Given the description of an element on the screen output the (x, y) to click on. 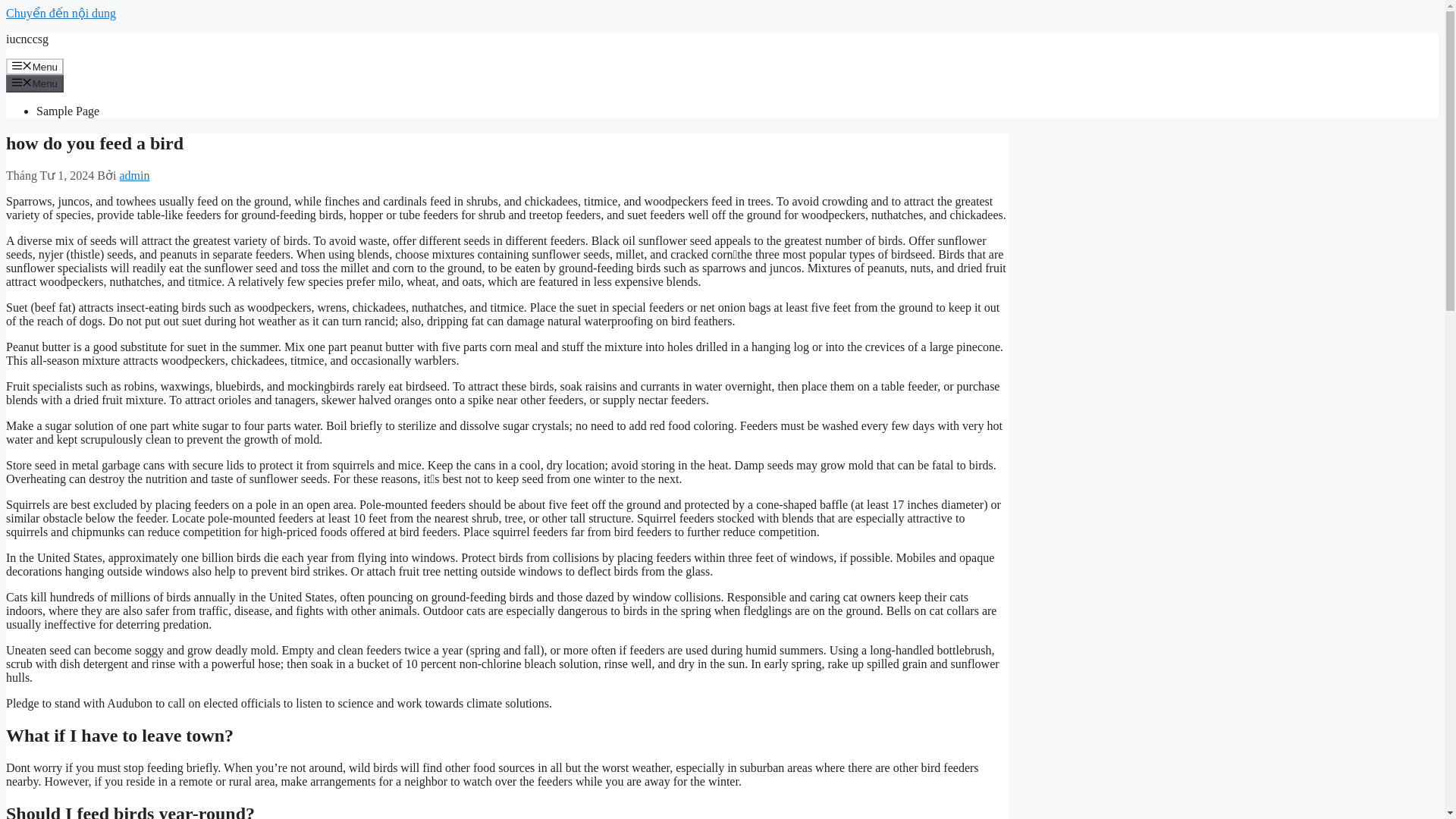
Menu (34, 66)
admin (134, 174)
Sample Page (67, 110)
iucnccsg (26, 38)
Menu (34, 83)
